Given the description of an element on the screen output the (x, y) to click on. 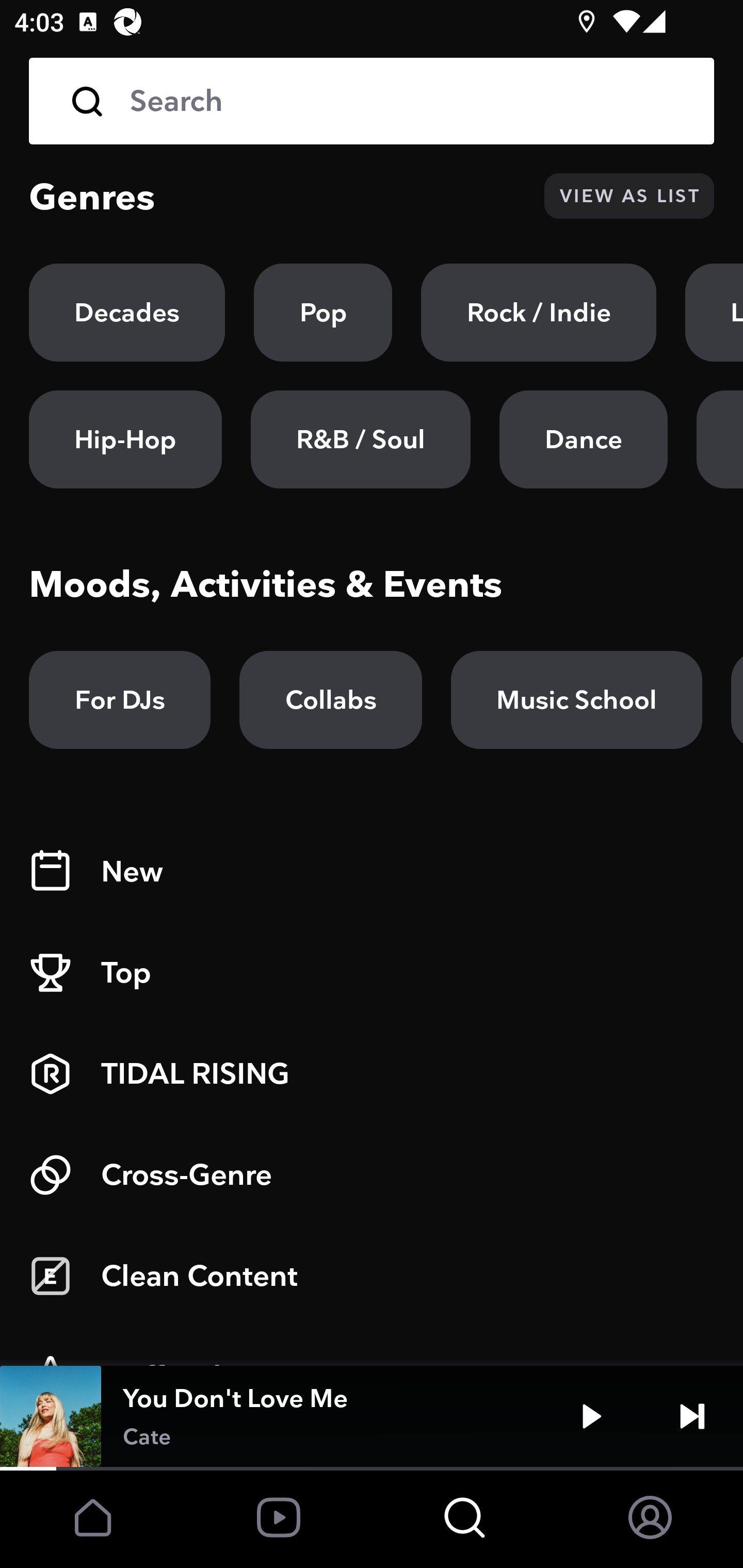
Search (371, 101)
Search (407, 100)
VIEW AS LIST (629, 195)
Decades (126, 312)
Pop (323, 312)
Rock / Indie (538, 312)
Hip-Hop (125, 439)
R&B / Soul (360, 439)
Dance (583, 439)
For DJs (119, 699)
Collabs (330, 699)
Music School (576, 699)
New (371, 871)
Top (371, 972)
TIDAL RISING (371, 1073)
Cross-Genre (371, 1175)
Clean Content (371, 1276)
You Don't Love Me Cate Play (371, 1416)
Play (590, 1416)
